Given the description of an element on the screen output the (x, y) to click on. 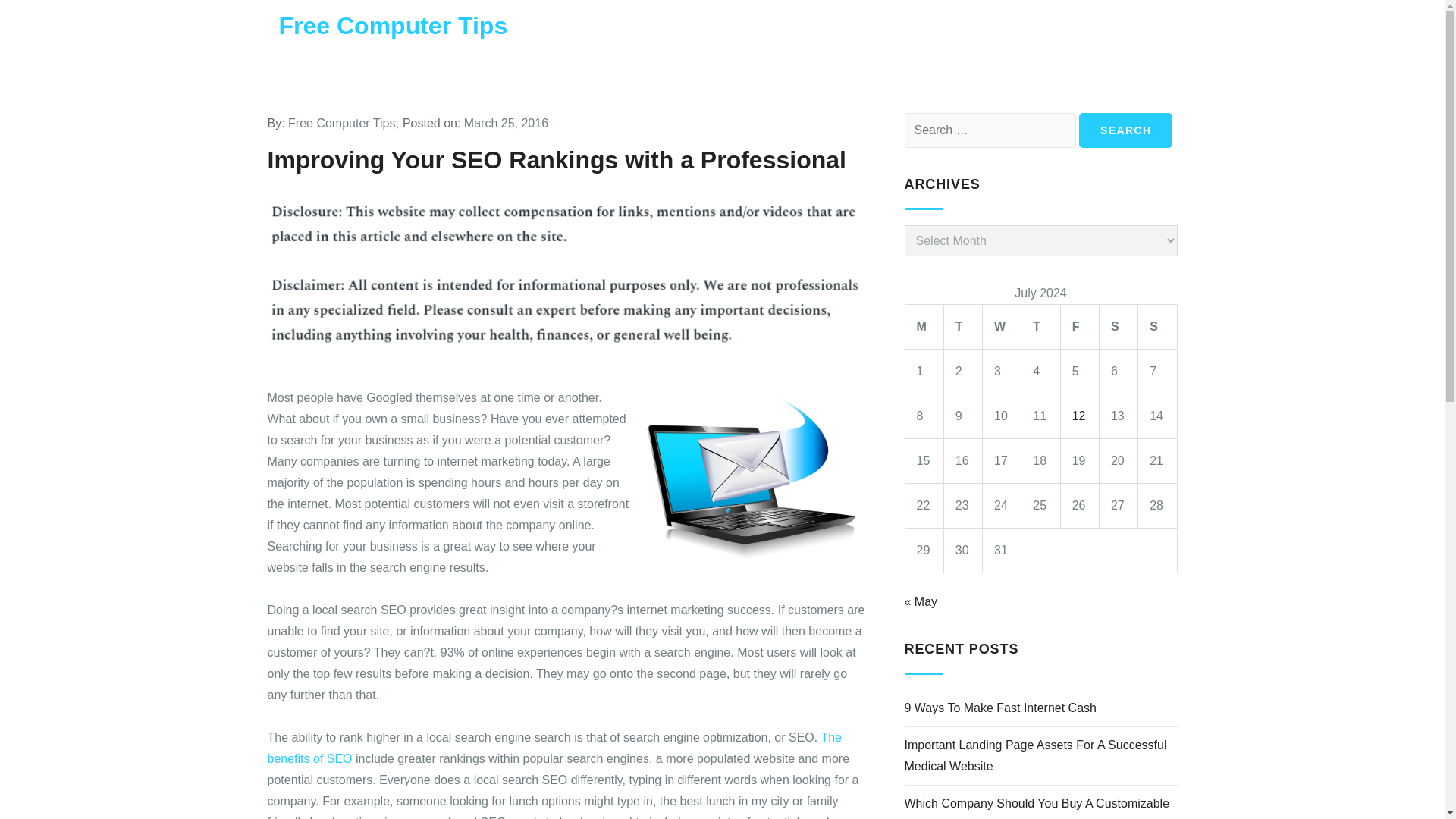
12 (1078, 415)
The benefits of SEO (553, 747)
9 Ways To Make Fast Internet Cash (1000, 708)
Free Computer Tips (341, 123)
See here (553, 747)
Search (1125, 130)
Search (1125, 130)
March 25, 2016 (506, 123)
Free Computer Tips (393, 25)
Search (1125, 130)
